Given the description of an element on the screen output the (x, y) to click on. 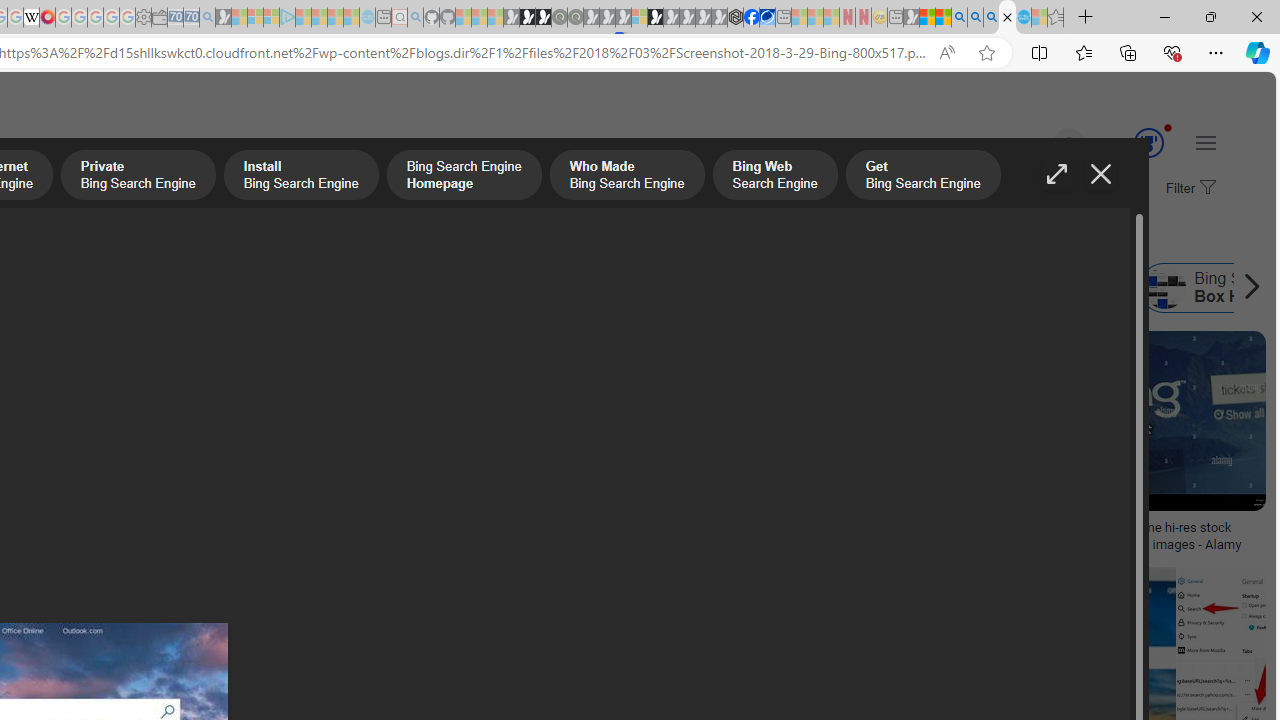
Scroll right (1246, 287)
Bing Hoodies (132, 460)
Bing Best Search Engine (86, 287)
Bing Search Box History (1165, 287)
Microsoft Start Gaming - Sleeping (223, 17)
Microsoft Rewards 84 (1130, 143)
Bing Mugs (132, 521)
New tab - Sleeping (895, 17)
MediaWiki (47, 17)
Close image (1100, 173)
